Given the description of an element on the screen output the (x, y) to click on. 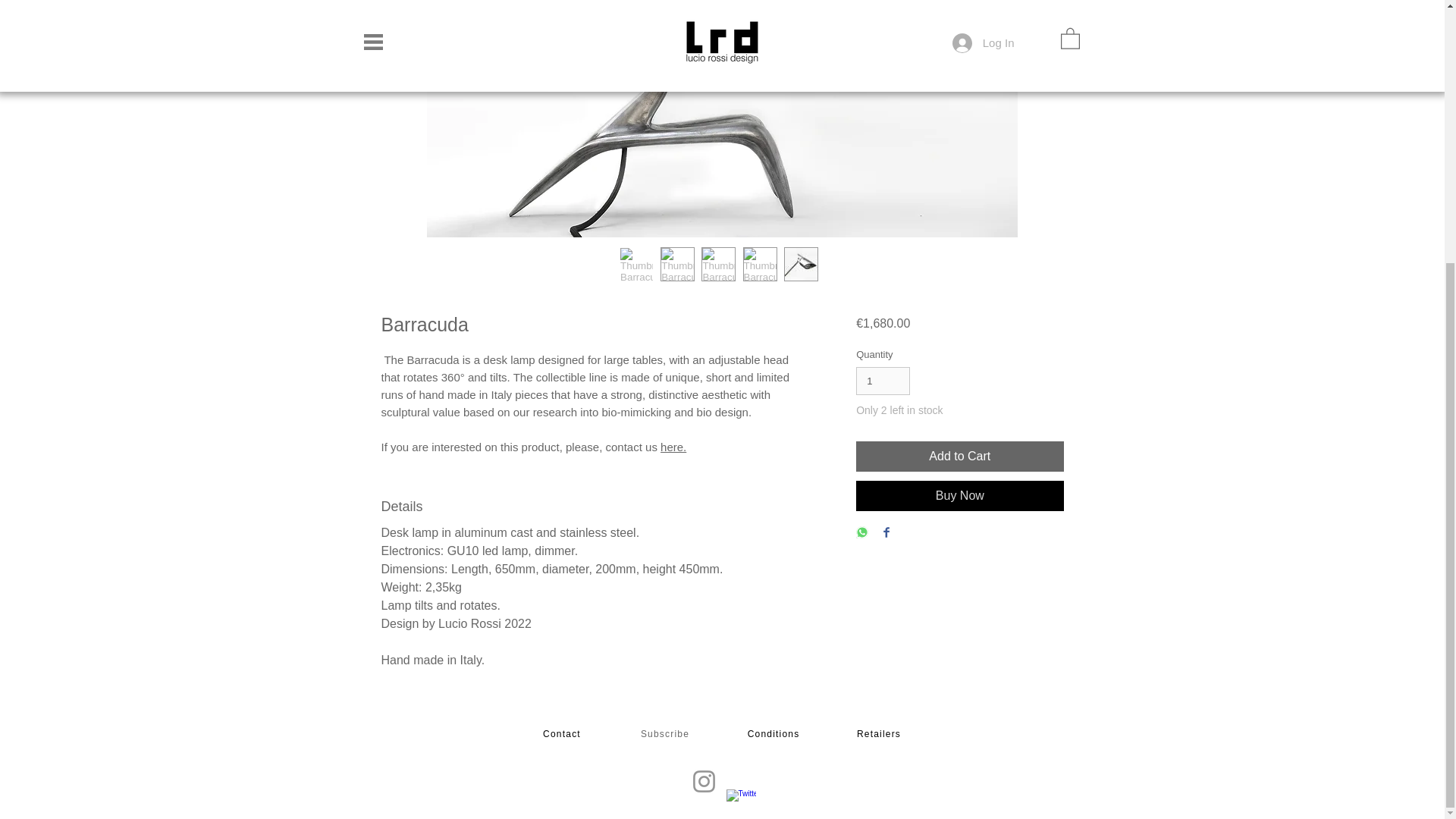
1 (883, 380)
Subscribe (665, 733)
Buy Now (959, 495)
Contact (562, 733)
here. (673, 446)
Retailers (879, 733)
Add to Cart (959, 456)
Conditions (775, 733)
